Given the description of an element on the screen output the (x, y) to click on. 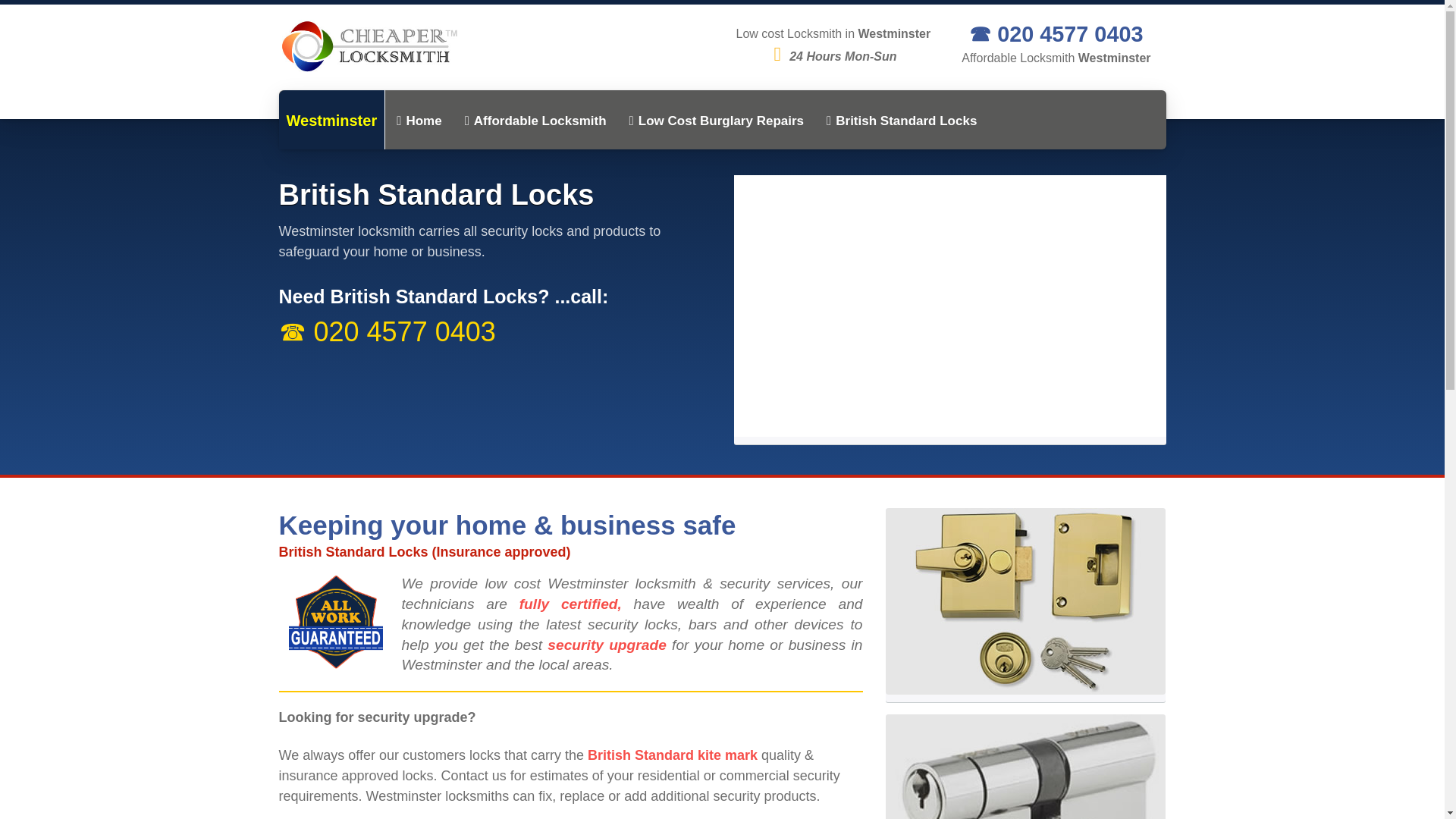
British Standard Locks (901, 121)
British Standard locks installation in Westminster (901, 121)
Home (418, 121)
Affordable Locksmith (534, 121)
Affordable cheap Locksmith in Westminster (418, 121)
Low Cost Burglary repairs in Westminster (716, 121)
Low Cost Burglary Repairs (716, 121)
Affordable Westminster Locksmith Services (534, 121)
